Given the description of an element on the screen output the (x, y) to click on. 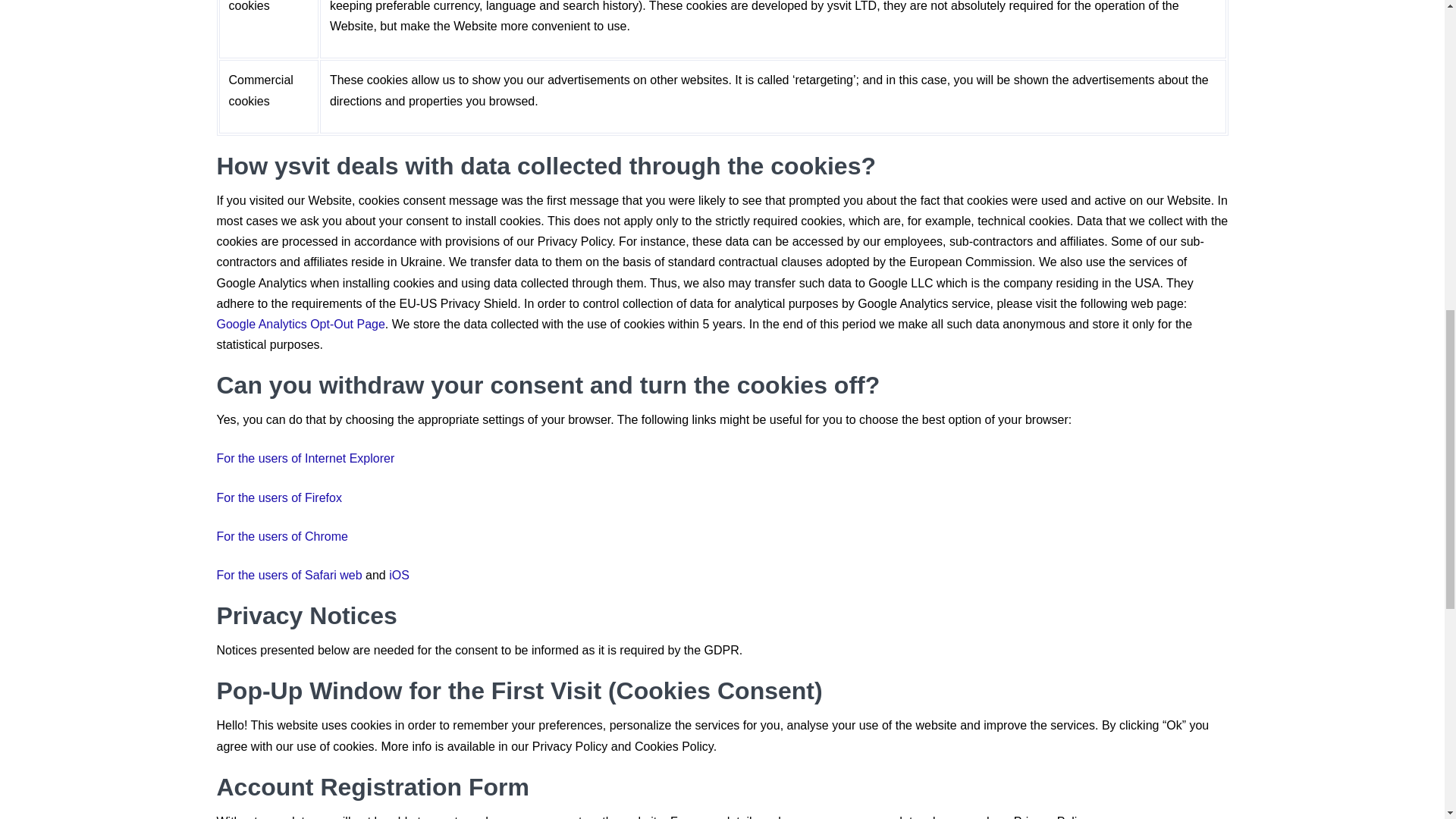
For the users of Chrome (281, 535)
For the users of Internet Explorer (305, 458)
For the users of Safari web (289, 574)
For the users of Firefox (279, 497)
Google Analytics Opt-Out Page (300, 323)
iOS (398, 574)
